Given the description of an element on the screen output the (x, y) to click on. 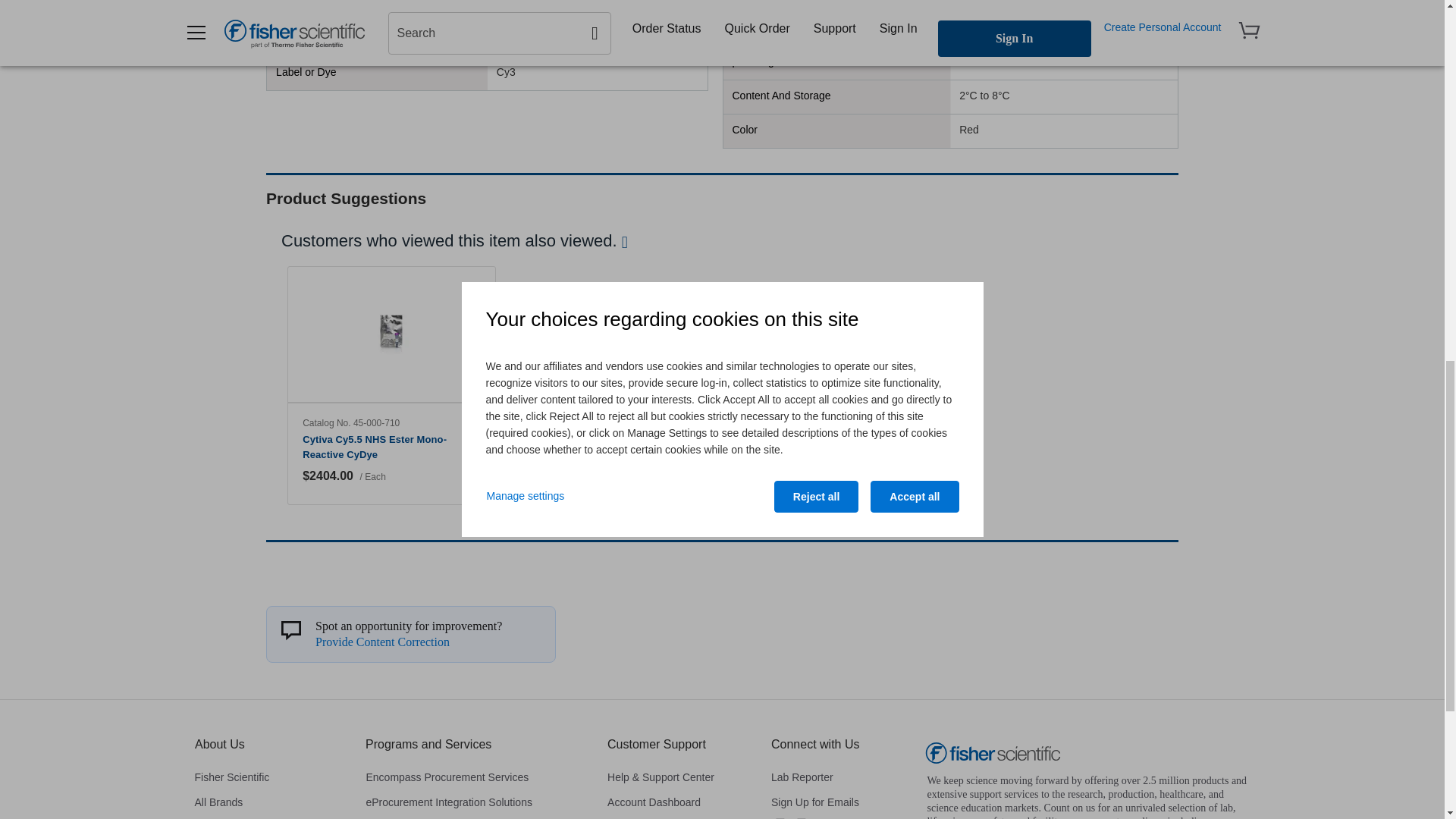
Facebook icon Facebook icon (780, 816)
Provide Content Correction (382, 641)
LinkedIn icon LinkedIn icon (801, 816)
